Given the description of an element on the screen output the (x, y) to click on. 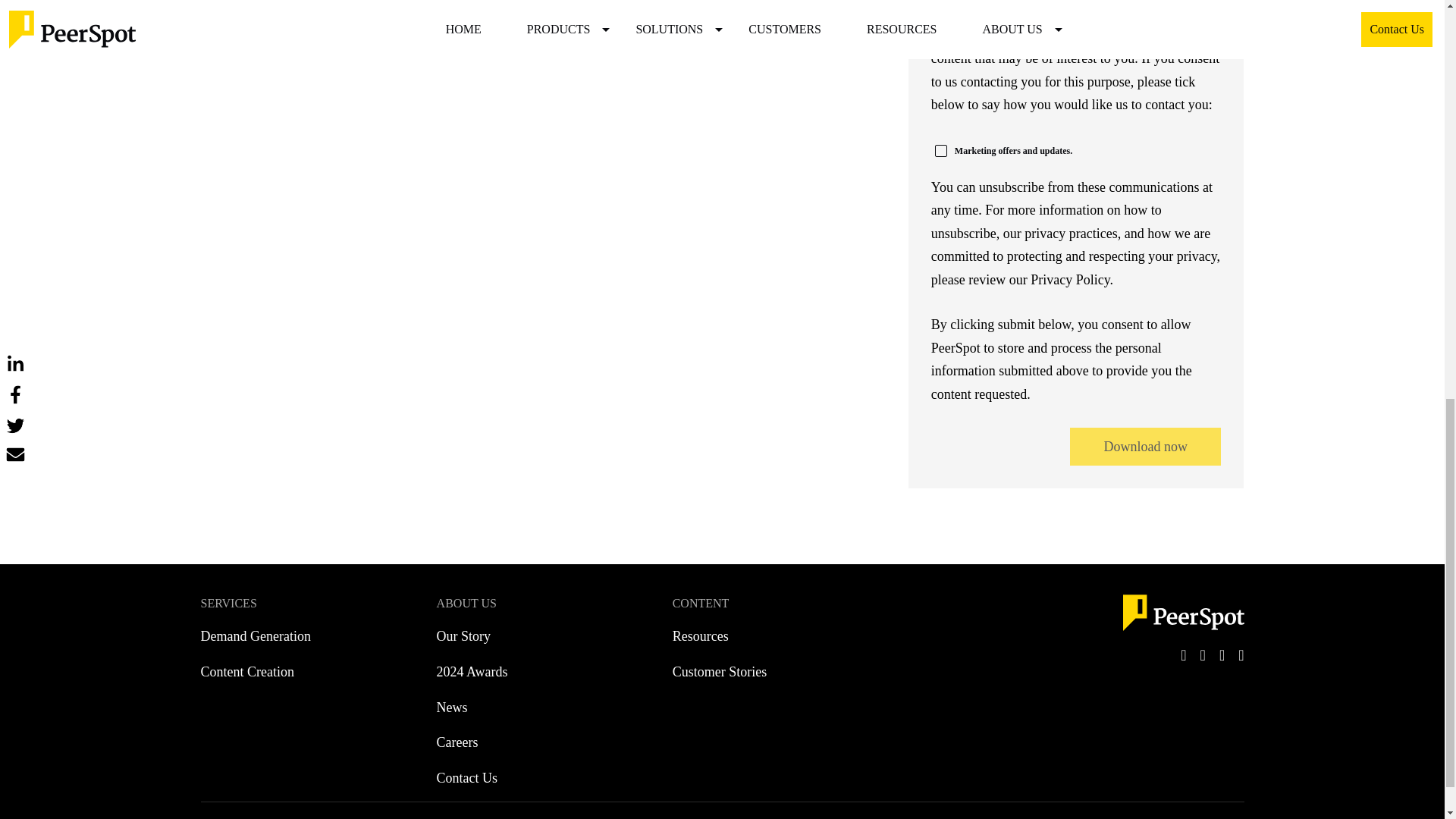
Download now (1145, 446)
2024 Awards (472, 672)
Contact Us (466, 778)
Careers (457, 742)
Content Creation (247, 672)
Download now (1145, 446)
Our Story (464, 636)
Demand Generation (255, 636)
